Given the description of an element on the screen output the (x, y) to click on. 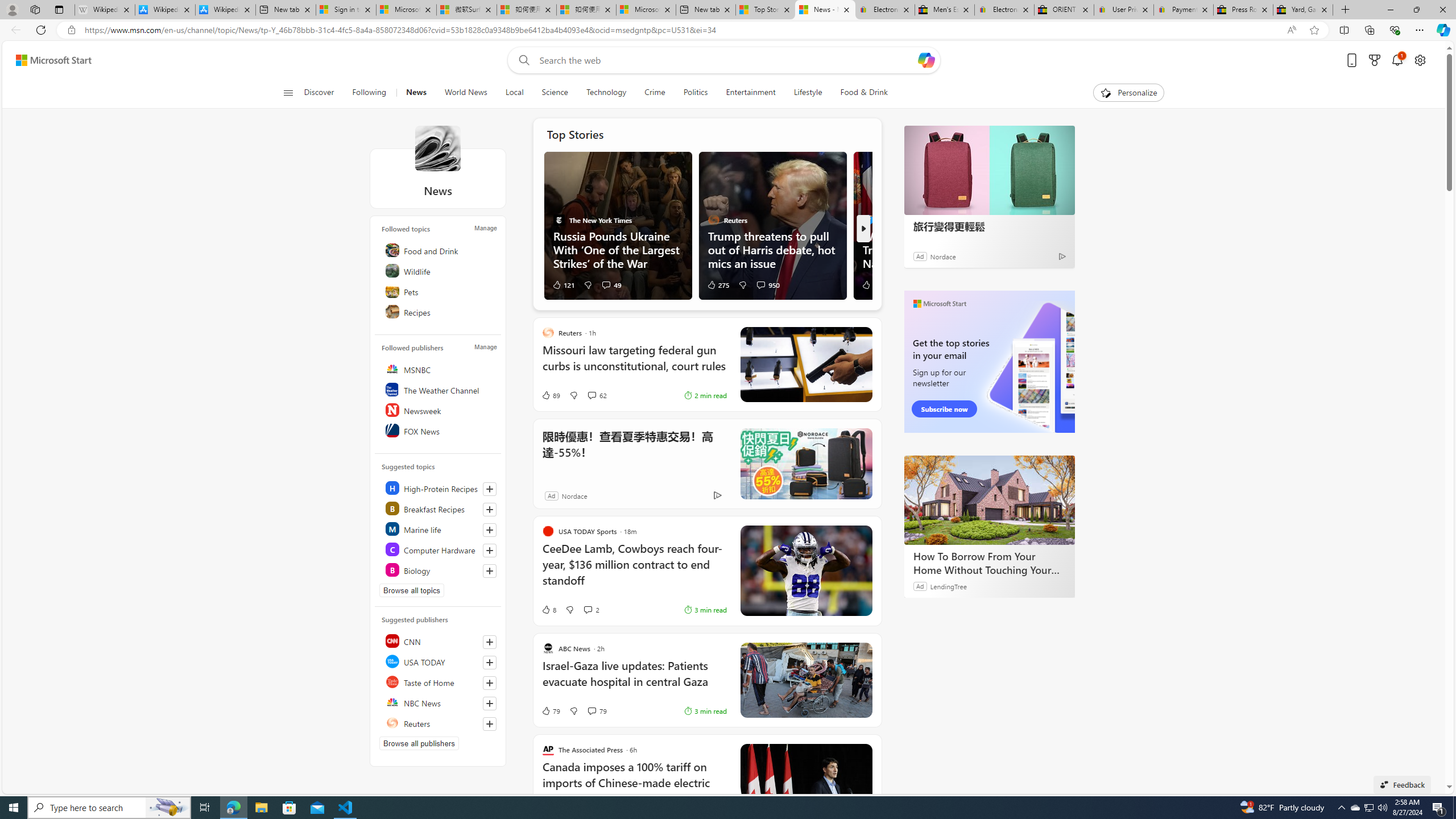
How To Borrow From Your Home Without Touching Your Mortgage (989, 499)
Following (370, 92)
Microsoft rewards (1374, 60)
Politics (695, 92)
Entertainment (750, 92)
Entertainment (750, 92)
News (415, 92)
Subscribe now (943, 408)
Workspaces (34, 9)
Open Copilot (925, 59)
